Given the description of an element on the screen output the (x, y) to click on. 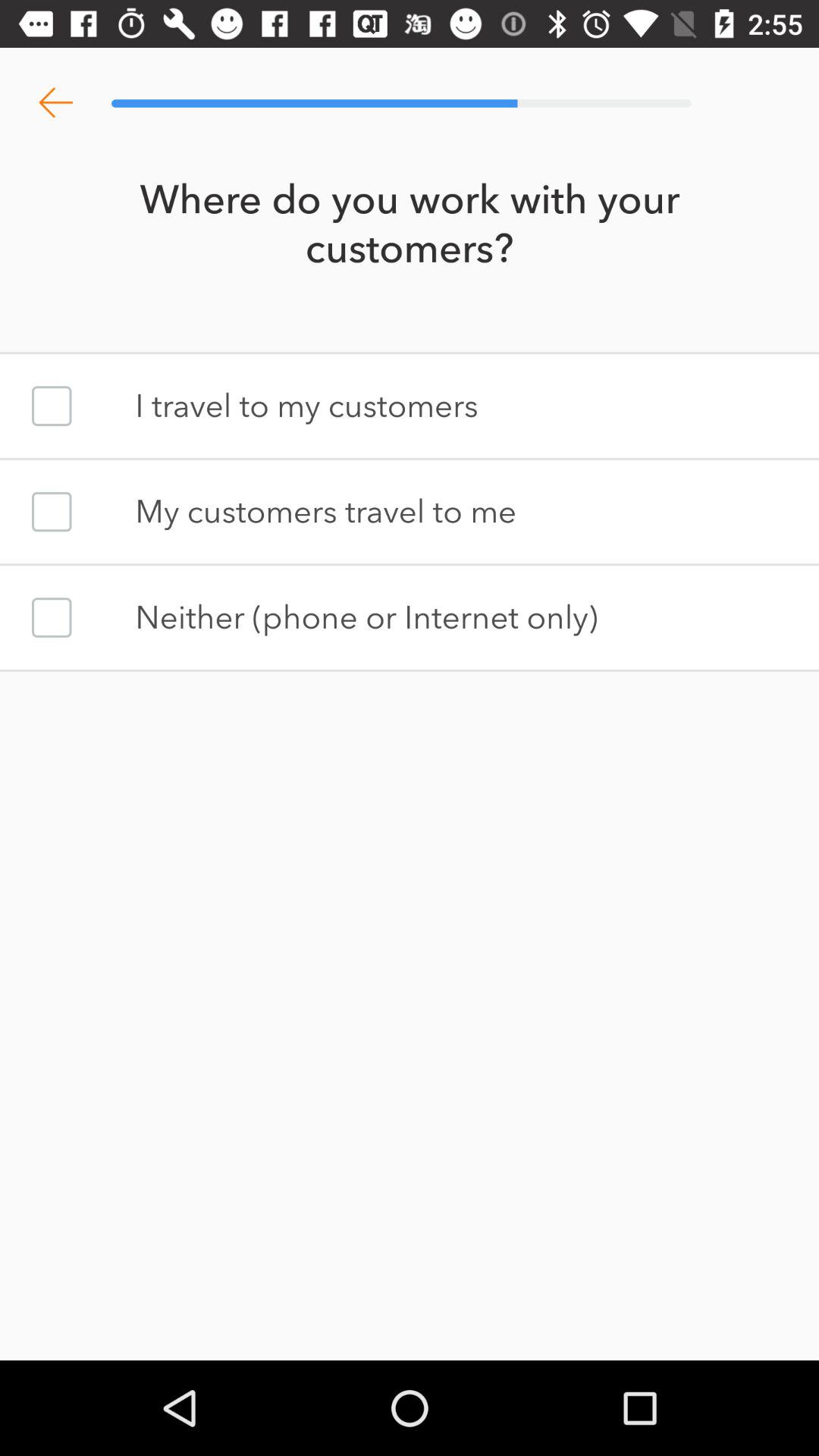
slection option (51, 511)
